Given the description of an element on the screen output the (x, y) to click on. 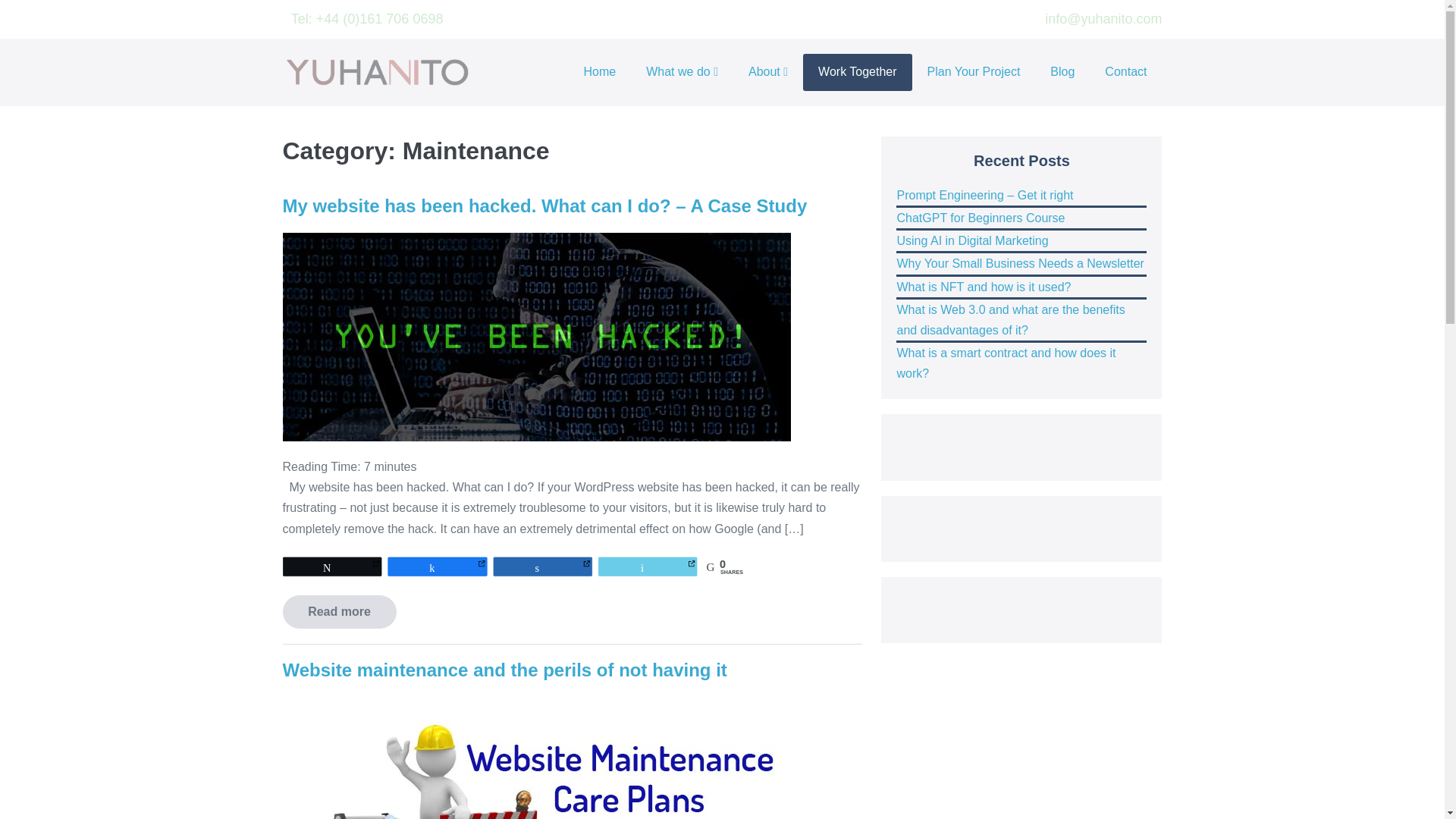
Contact (1125, 72)
Home (600, 72)
YUHANITO (376, 72)
About (768, 72)
What we do (681, 72)
Blog (1062, 72)
Work Together (857, 72)
Plan Your Project (973, 72)
Website maintenance and the perils of not having it (504, 670)
